Given the description of an element on the screen output the (x, y) to click on. 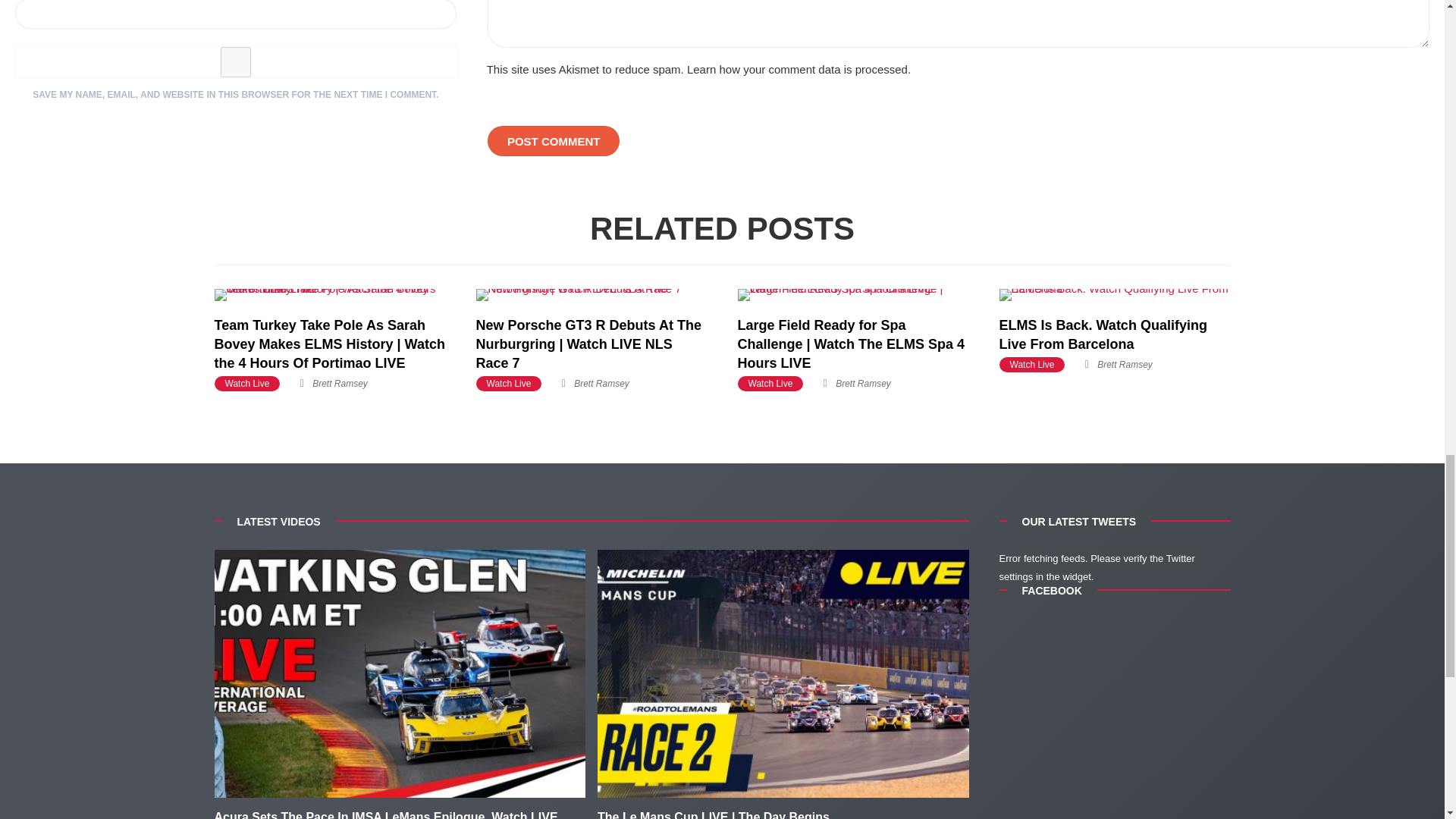
View all articles from: Watch Live (246, 383)
yes (235, 61)
View all articles from: Watch Live (508, 383)
Post Comment (553, 141)
